Given the description of an element on the screen output the (x, y) to click on. 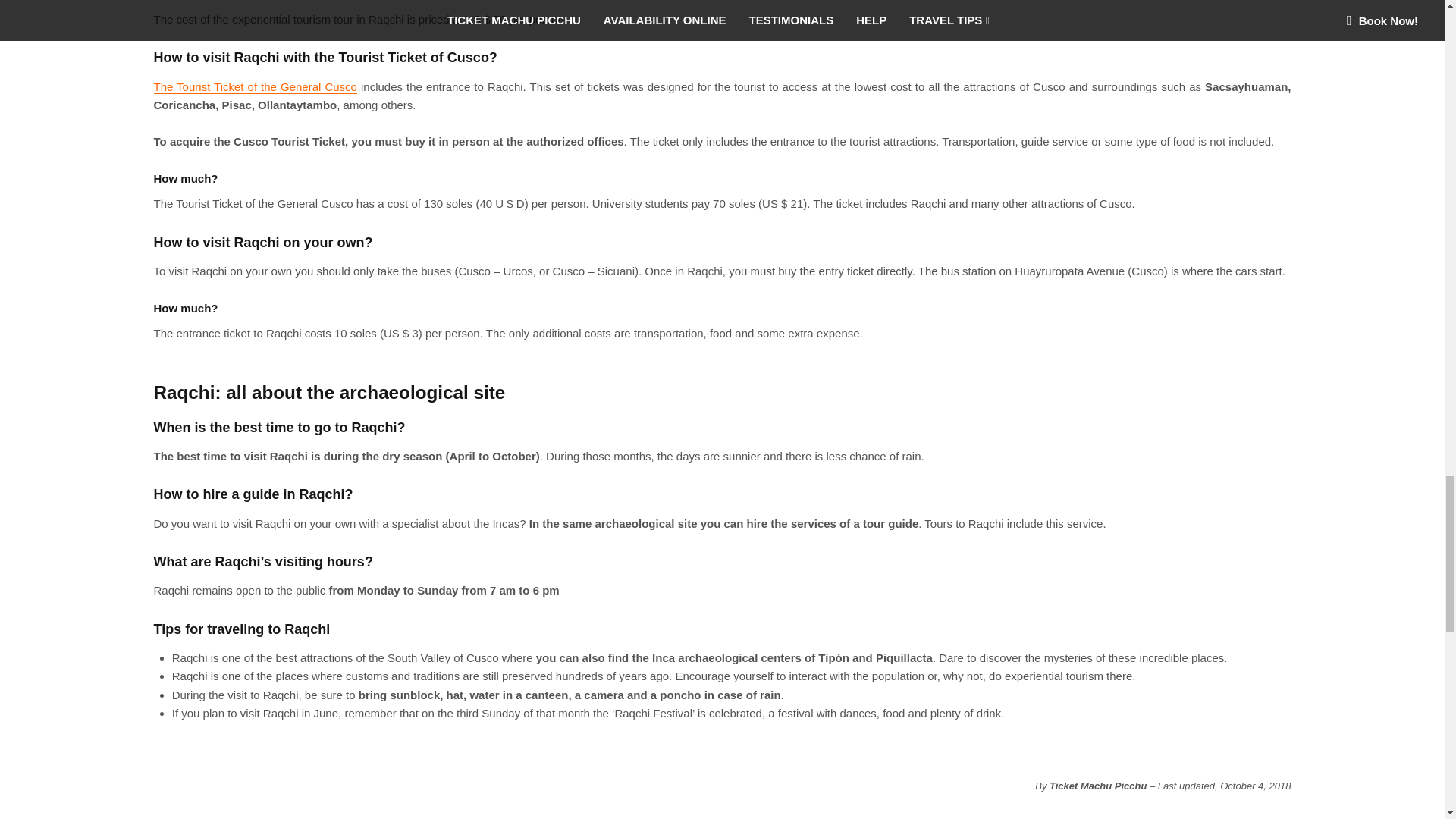
How to Buy Tourist Ticket Cusco? (254, 87)
